Given the description of an element on the screen output the (x, y) to click on. 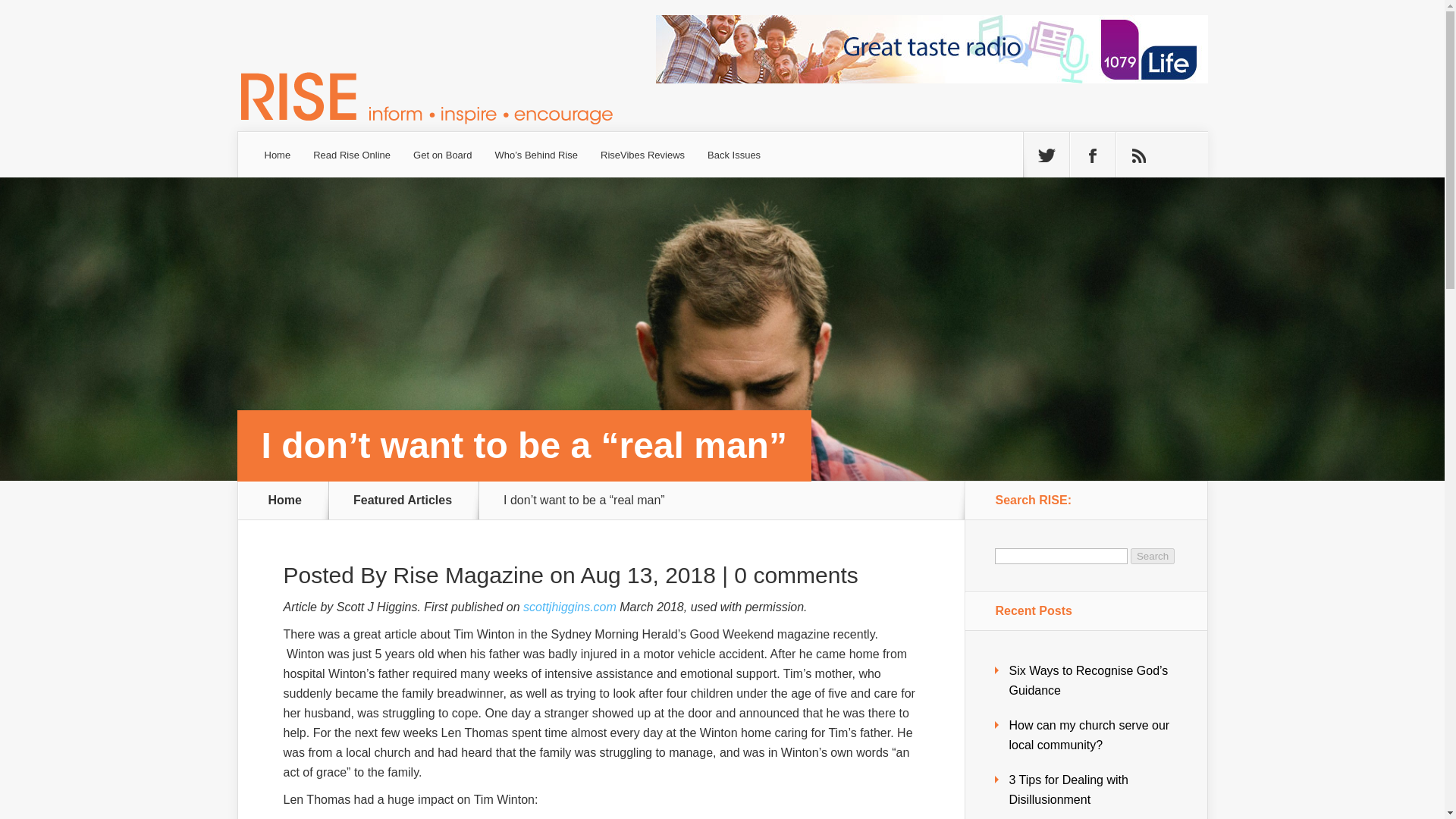
Read Rise Online (351, 154)
Follow us on Twitter (1045, 155)
scottjhiggins.com (568, 606)
Search (1152, 555)
Home (285, 500)
How can my church serve our local community? (1089, 735)
0 comments (795, 575)
Subscribe To Rss Feed (1138, 155)
Get on Board (442, 154)
Home (277, 154)
